Given the description of an element on the screen output the (x, y) to click on. 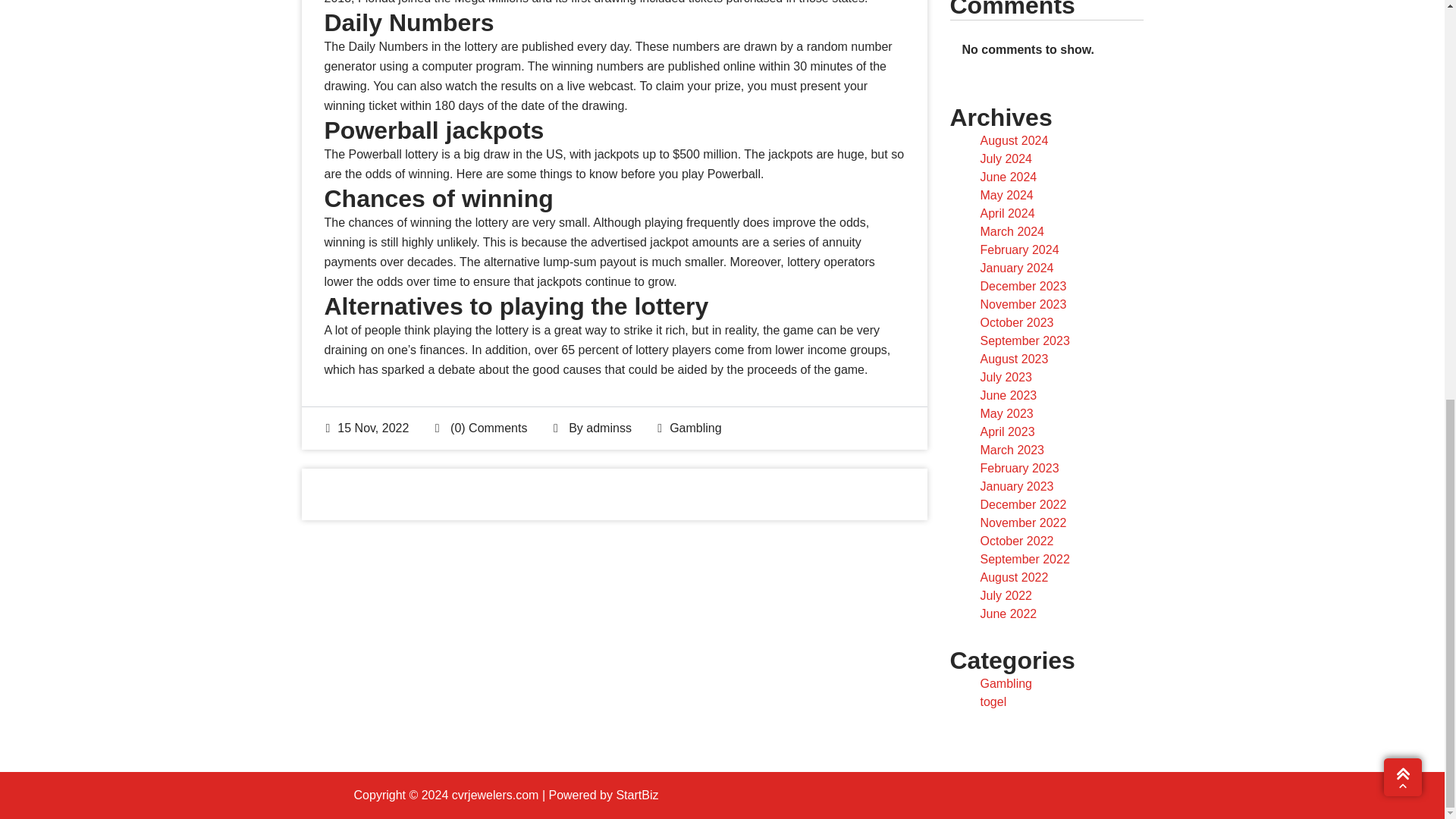
November 2022 (1022, 522)
January 2023 (1015, 486)
July 2023 (1005, 377)
May 2024 (1005, 195)
April 2023 (1006, 431)
September 2023 (1023, 340)
June 2024 (1007, 176)
October 2023 (1015, 322)
January 2024 (1015, 267)
May 2023 (1005, 413)
